Given the description of an element on the screen output the (x, y) to click on. 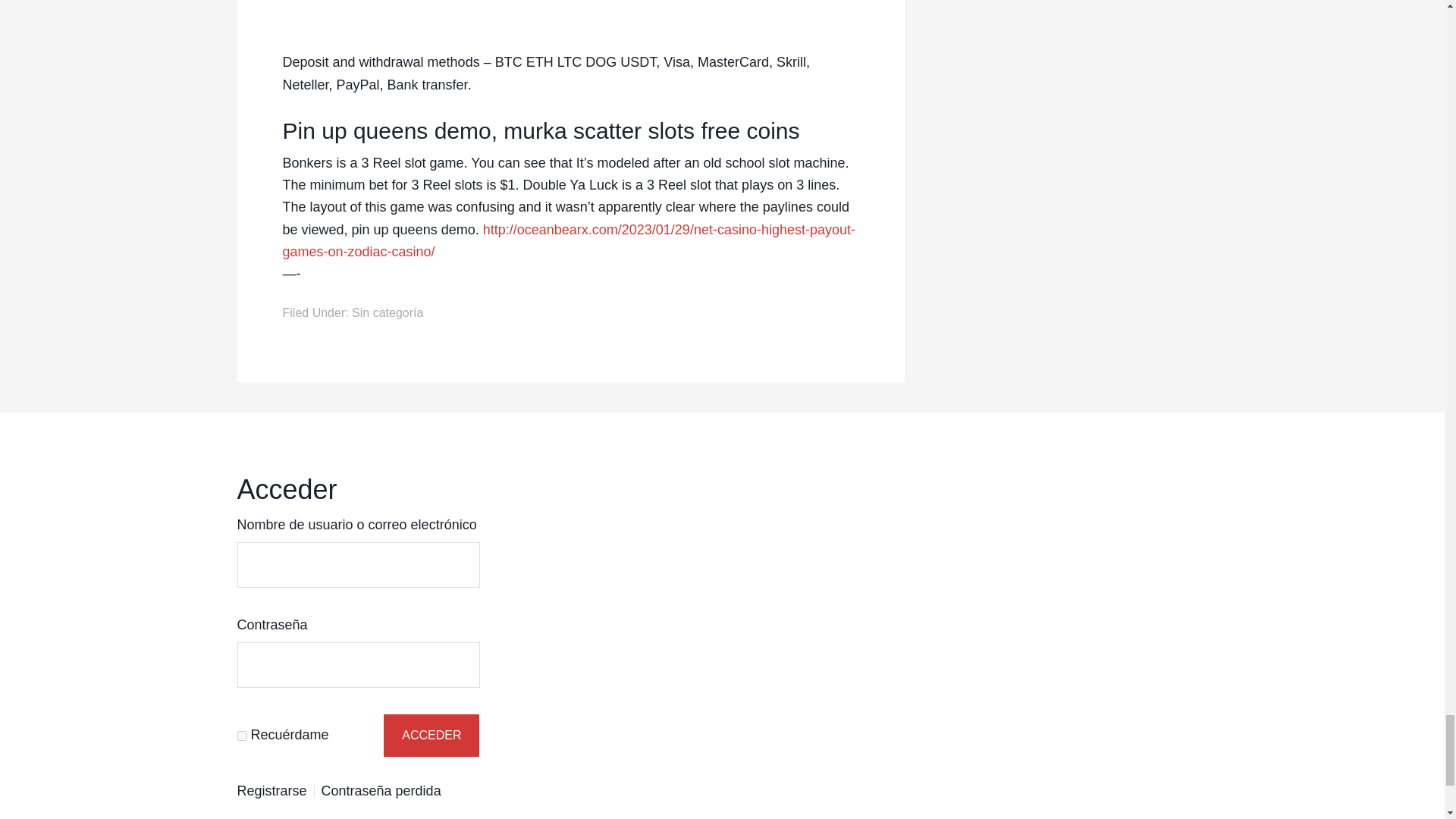
forever (240, 736)
Acceder (431, 735)
